Given the description of an element on the screen output the (x, y) to click on. 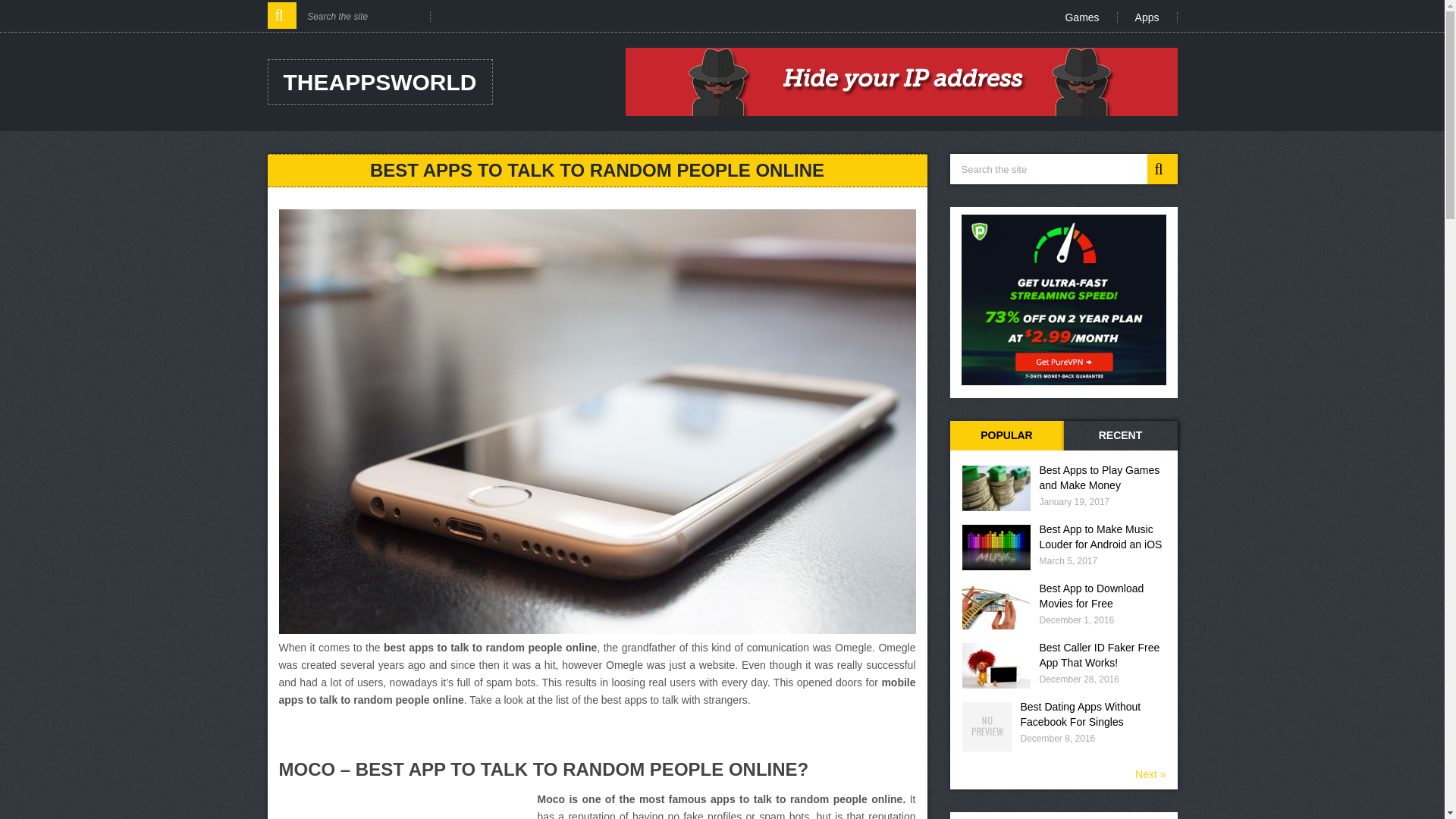
THEAPPSWORLD (379, 81)
Best Dating Apps Without Facebook For Singles (1093, 714)
Best App to Make Music Louder for Android an iOS (1101, 536)
RECENT (1119, 435)
Best Caller ID Faker Free App That Works! (1101, 654)
Apps (1147, 17)
POPULAR (1005, 435)
Advertisement (406, 805)
Best Apps to Play Games and Make Money (1101, 477)
Games (1081, 17)
